Given the description of an element on the screen output the (x, y) to click on. 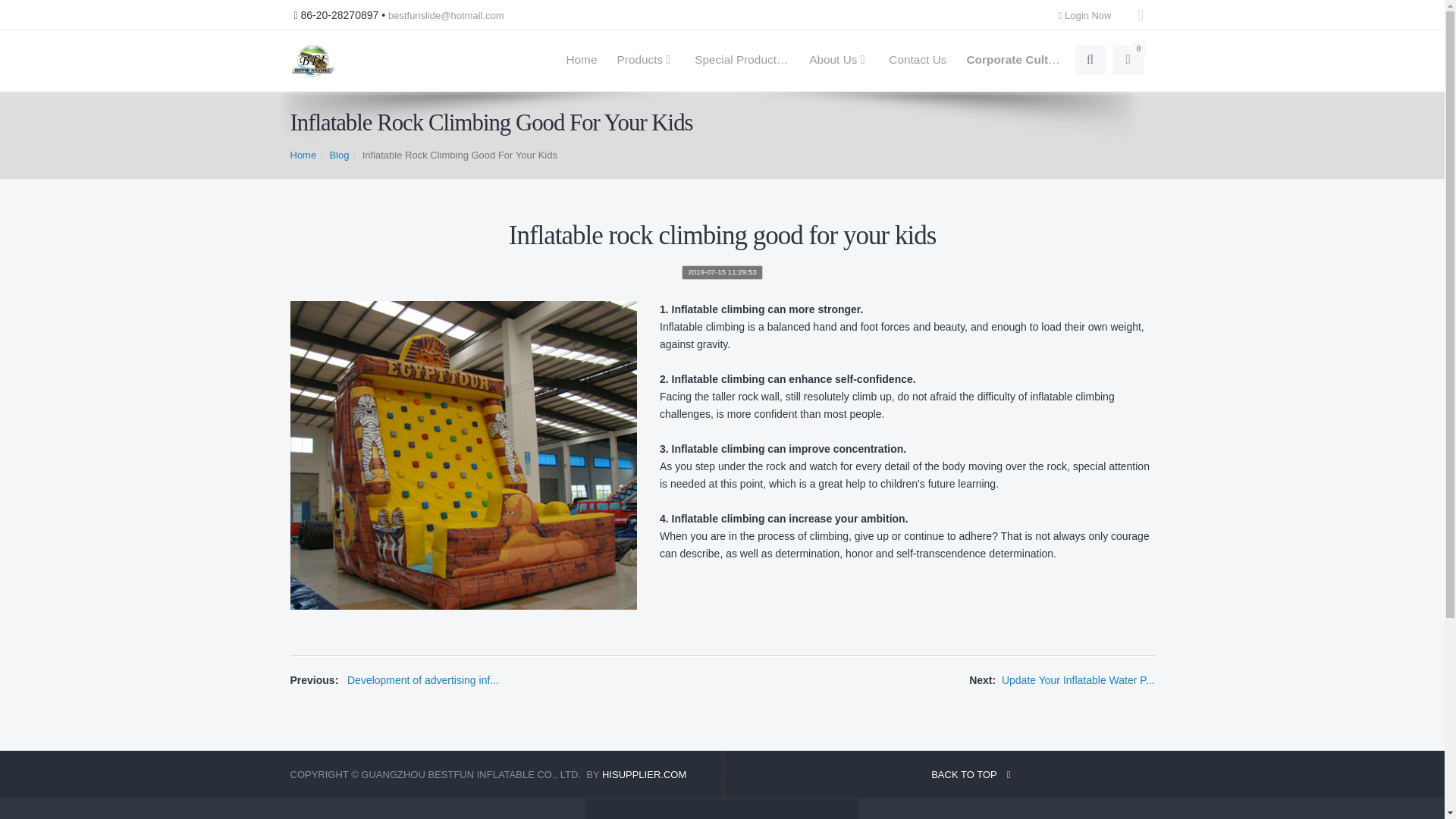
Login Now (1088, 15)
China Suppliers Directory (643, 774)
China airbag landing Manufacturer (311, 60)
Home (581, 60)
Products (645, 60)
